Given the description of an element on the screen output the (x, y) to click on. 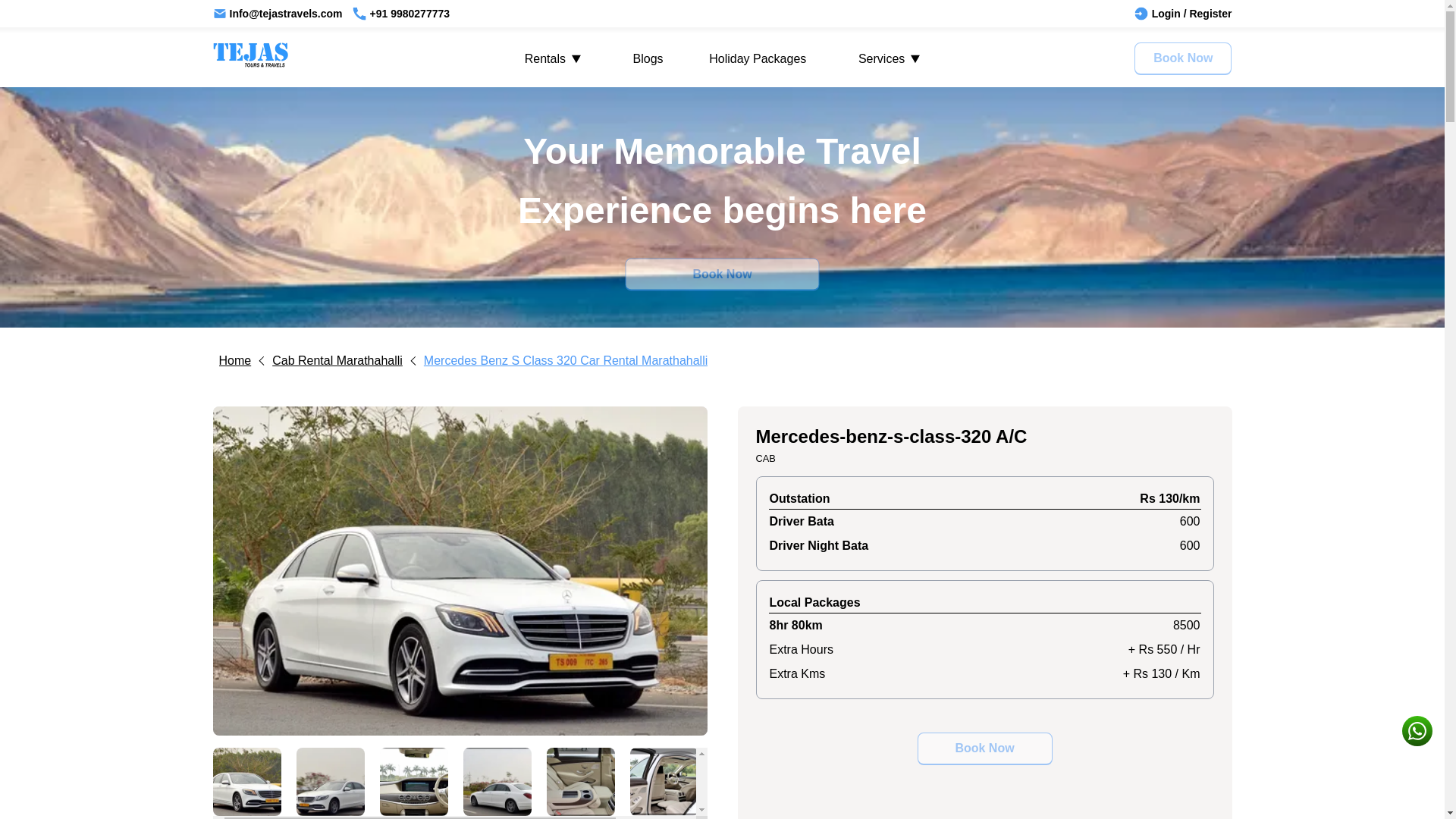
Mercedes Benz S Class 320 Car Rental Marathahalli (565, 361)
Blogs (648, 58)
Book Now (1182, 58)
Holiday Packages (757, 58)
Cab Rental Marathahalli (347, 361)
Book Now (984, 748)
Home (245, 361)
Book Now (721, 273)
